Given the description of an element on the screen output the (x, y) to click on. 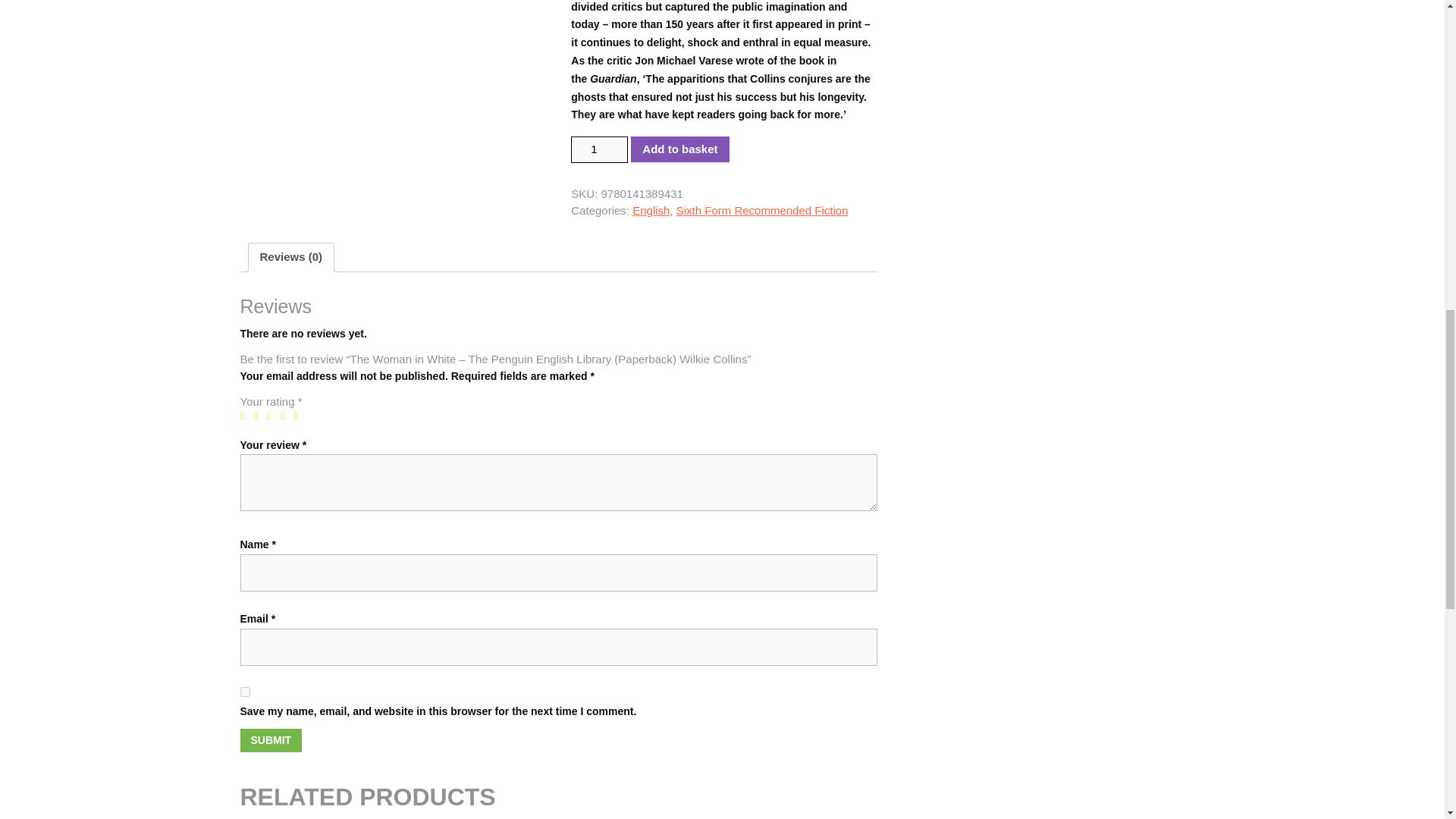
Add to basket (679, 149)
English (650, 210)
yes (244, 691)
1 (598, 149)
Sixth Form Recommended Fiction (762, 210)
Submit (270, 740)
